Given the description of an element on the screen output the (x, y) to click on. 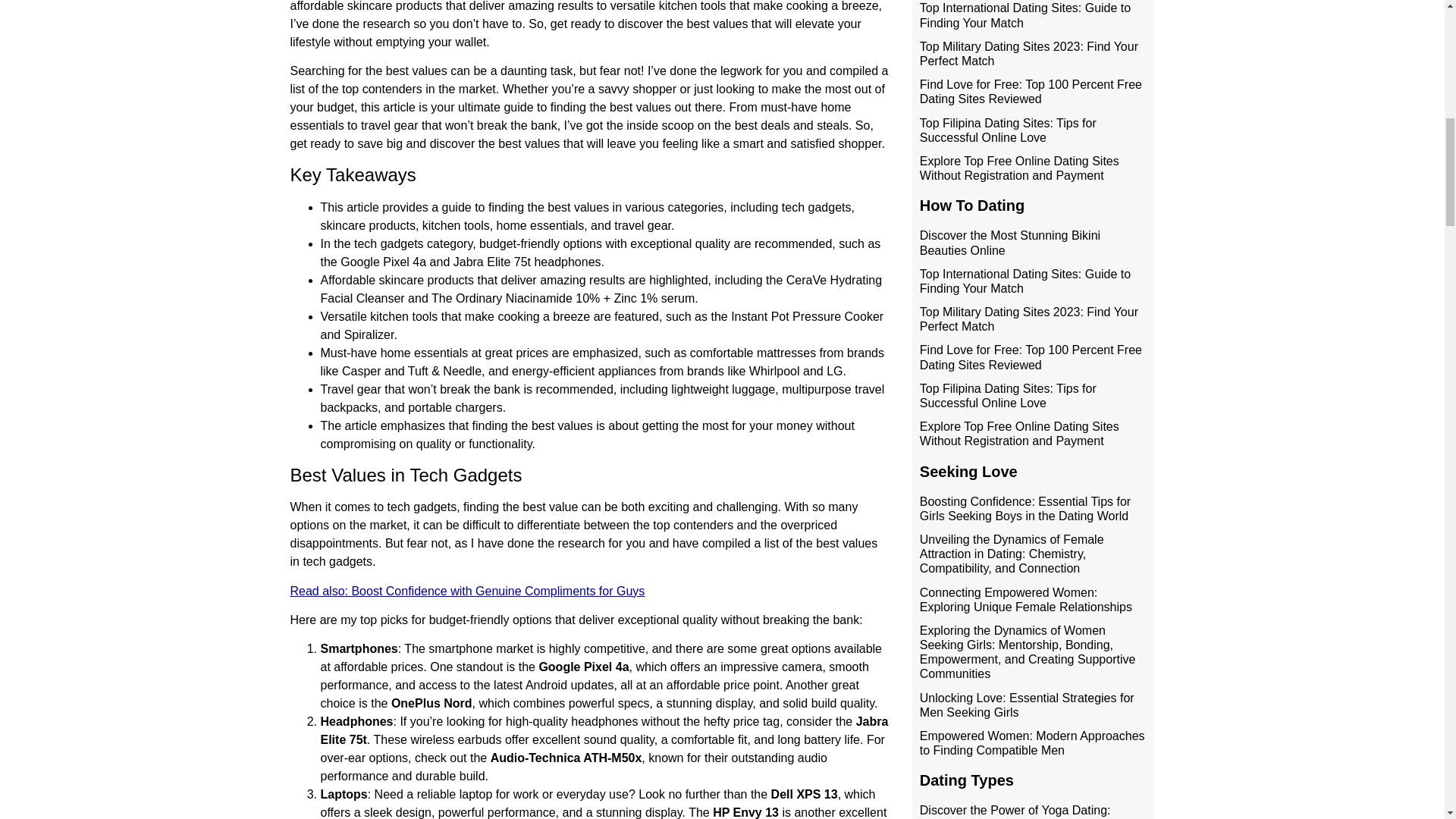
Boost Confidence with Genuine Compliments for Guys (497, 590)
